Given the description of an element on the screen output the (x, y) to click on. 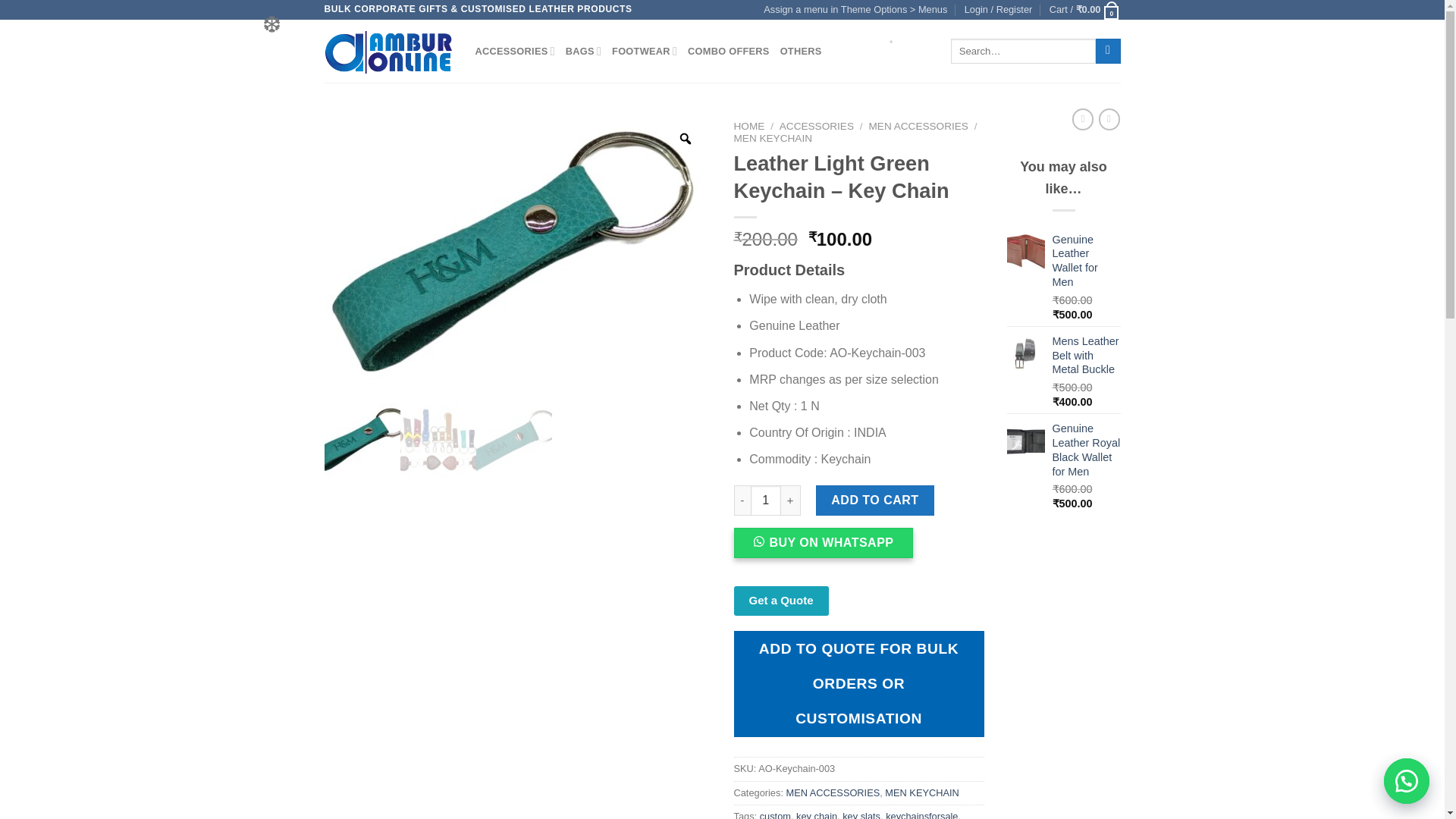
Cart (1085, 9)
BAGS (583, 51)
ACCESSORIES (514, 51)
Qty (765, 500)
1 (765, 500)
